Given the description of an element on the screen output the (x, y) to click on. 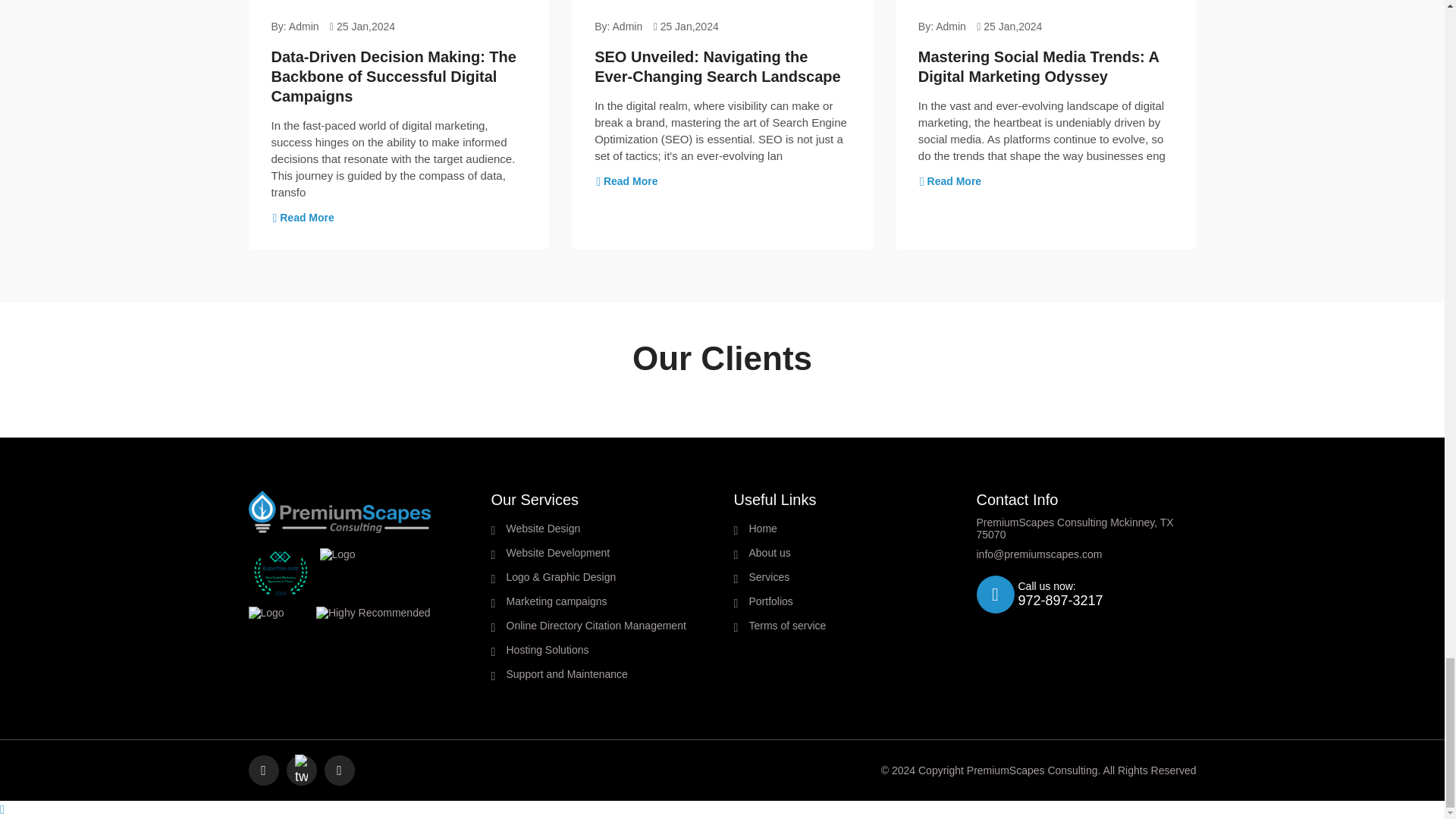
Read More (626, 181)
Read More (302, 217)
Website Design (608, 528)
SEO Unveiled: Navigating the Ever-Changing Search Landscape (717, 66)
Mastering Social Media Trends: A Digital Marketing Odyssey (1038, 66)
Website Development (608, 552)
Read More (949, 181)
